Given the description of an element on the screen output the (x, y) to click on. 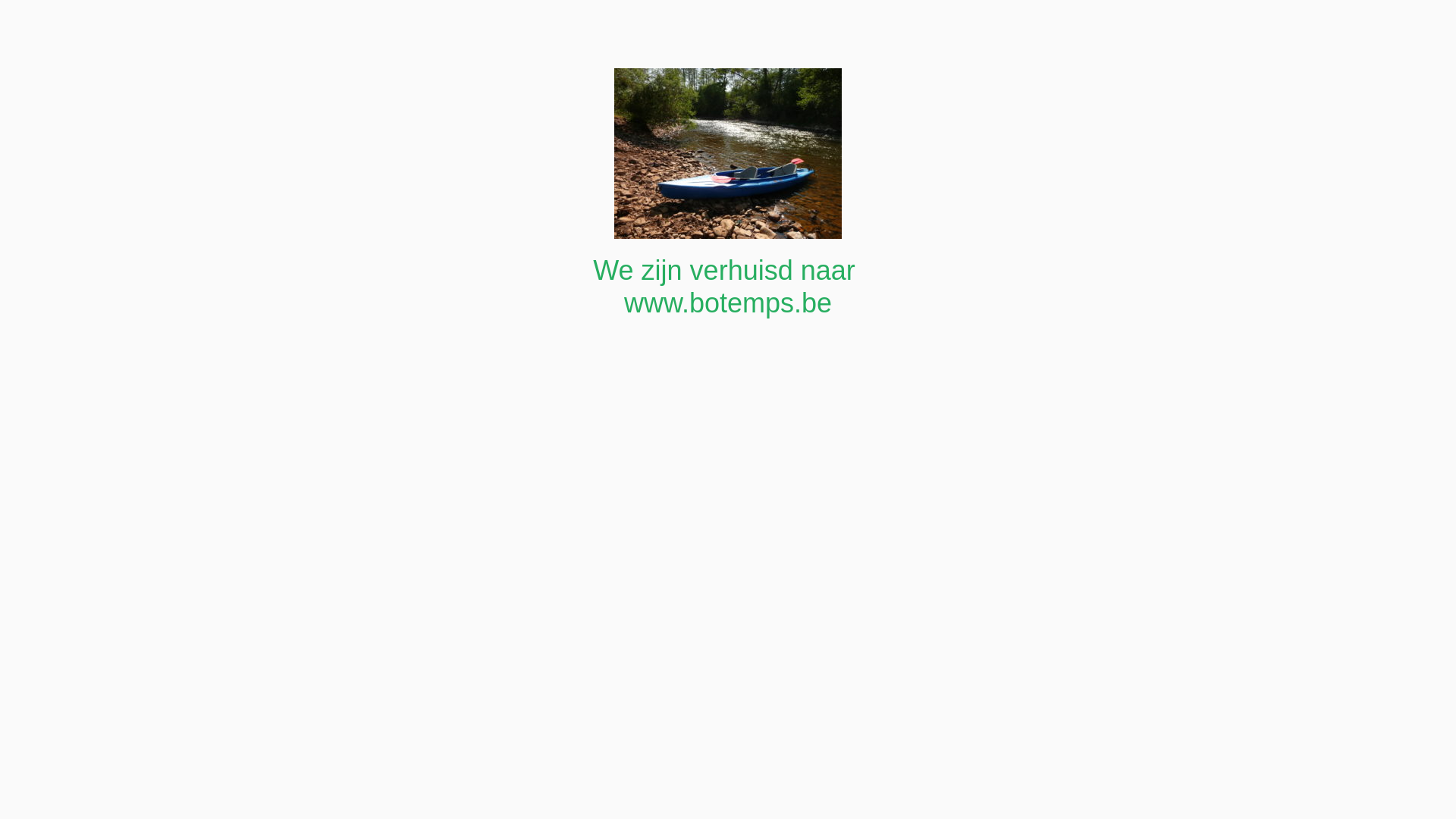
www.botemps.be Element type: text (727, 302)
We zijn verhuisd naar  Element type: text (727, 269)
